Given the description of an element on the screen output the (x, y) to click on. 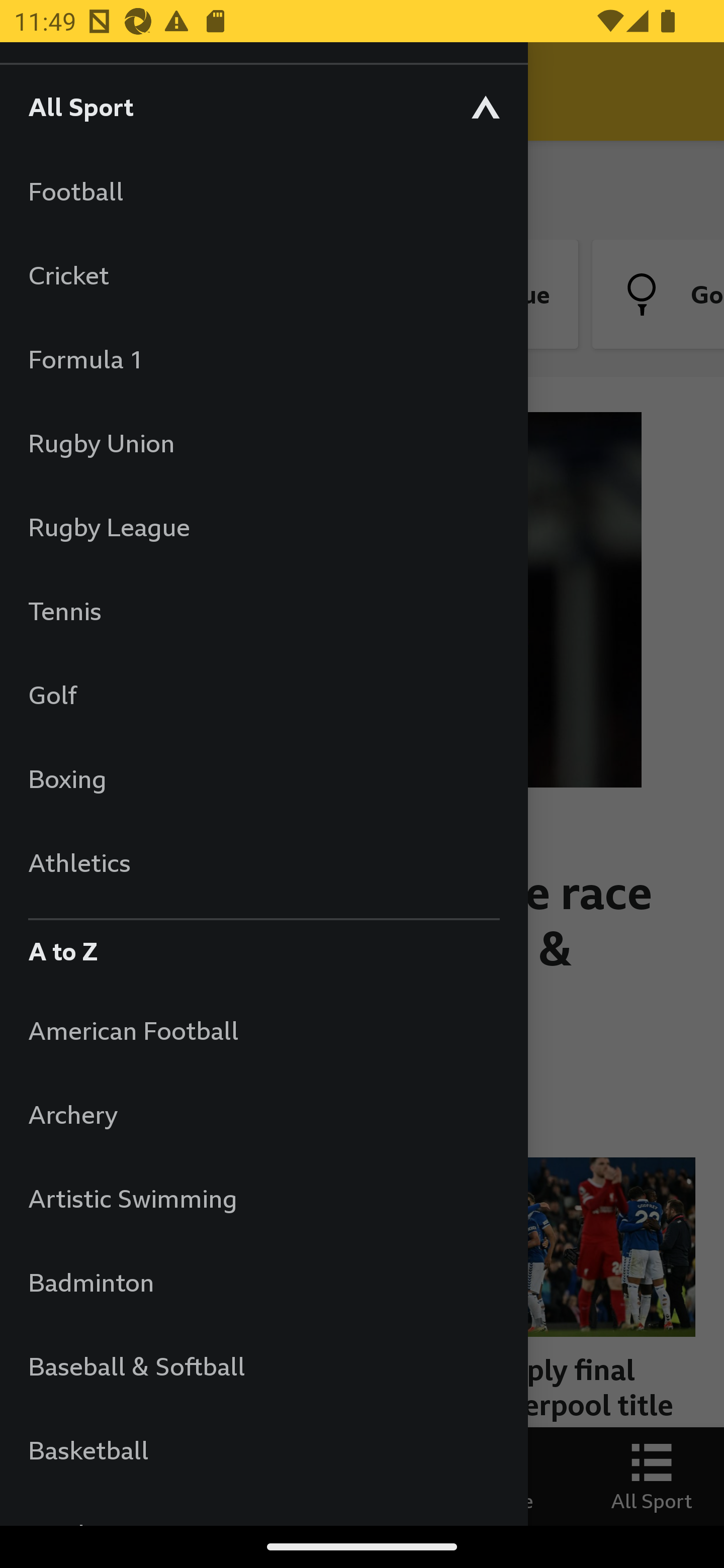
All Sport (263, 105)
Football (263, 190)
Cricket (263, 274)
Formula 1 (263, 358)
Rugby Union (263, 441)
Rugby League (263, 526)
Tennis (263, 609)
Golf (263, 694)
Boxing (263, 778)
Athletics (263, 862)
A to Z (263, 945)
American Football (263, 1029)
Archery (263, 1114)
Artistic Swimming (263, 1197)
Badminton (263, 1282)
Baseball & Softball (263, 1365)
Basketball (263, 1450)
